Given the description of an element on the screen output the (x, y) to click on. 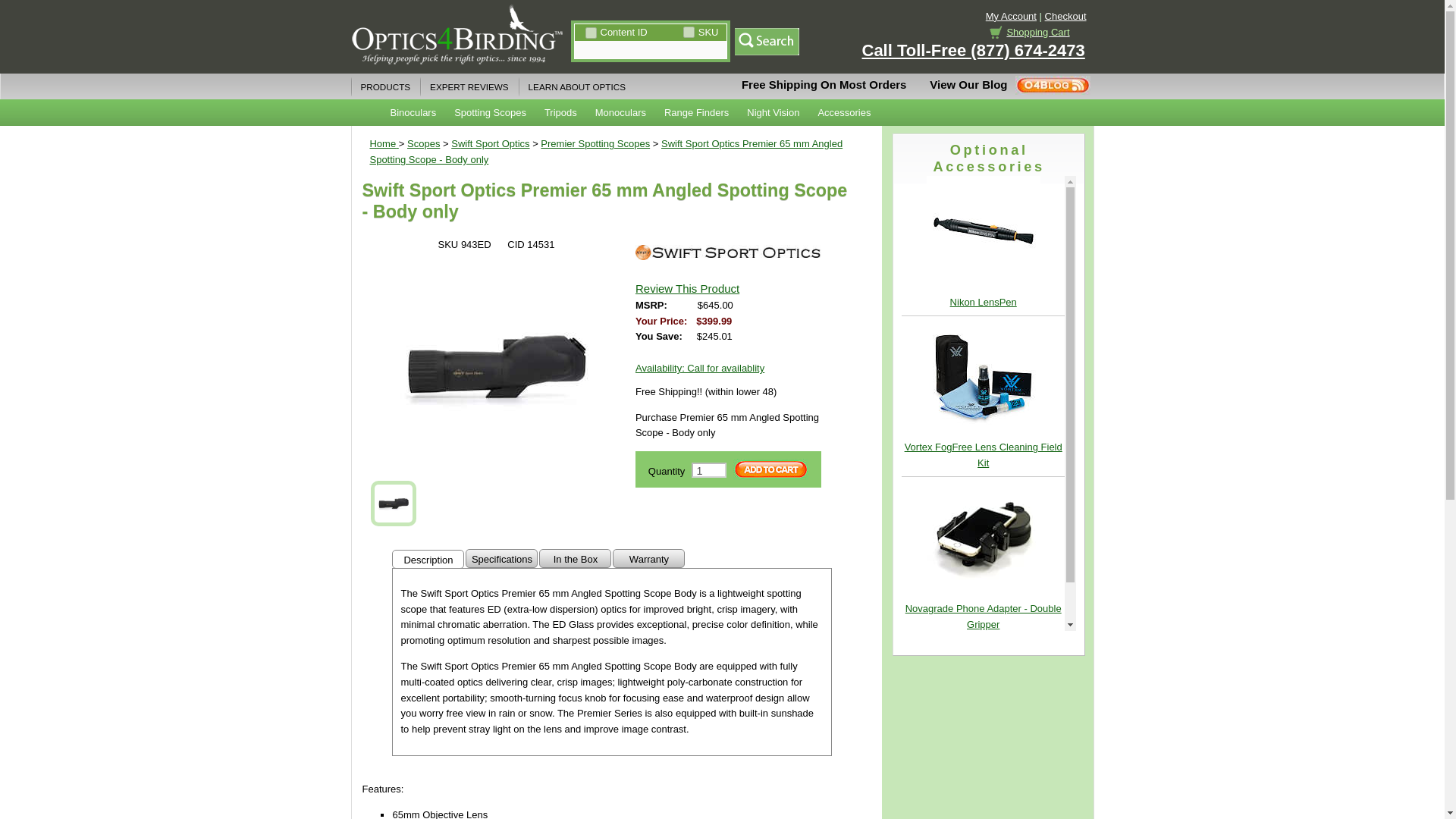
Accessories (843, 112)
on (590, 32)
View Our Learn About Optics (576, 86)
Tripods (560, 112)
Search by our content id (611, 31)
Binoculars (412, 112)
View Our Binoculars (412, 112)
Call Us Free (972, 49)
View Our Products (385, 86)
1 (708, 469)
on (688, 31)
Shopping Cart (994, 32)
Range Finders (696, 112)
PRODUCTS (385, 86)
Spotting Scopes (490, 112)
